Given the description of an element on the screen output the (x, y) to click on. 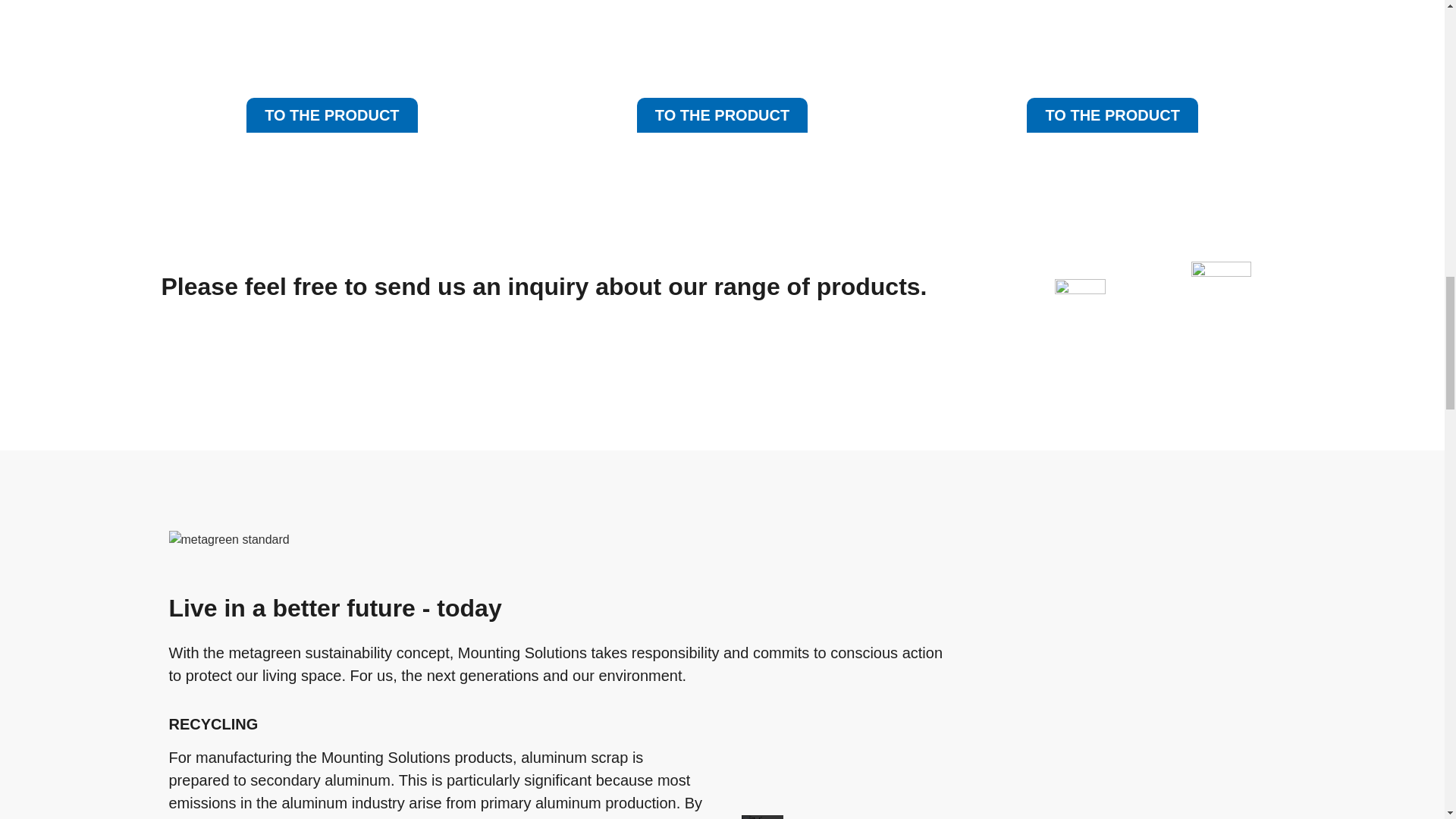
TO THE PRODUCT (722, 114)
TO THE PRODUCT (331, 114)
TO THE PRODUCT (1111, 114)
